Given the description of an element on the screen output the (x, y) to click on. 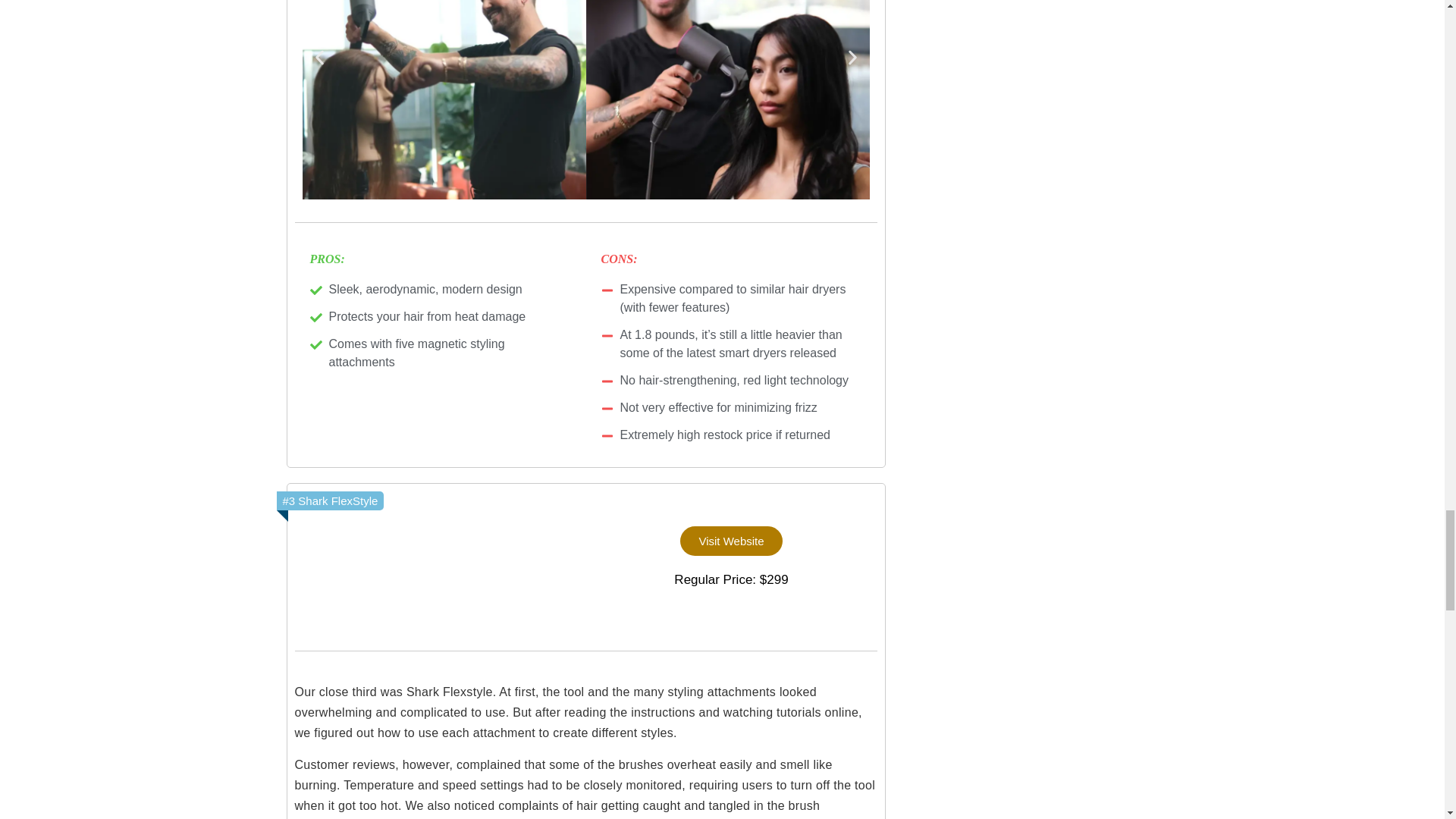
Visit Website (730, 541)
comp3 (440, 562)
